Given the description of an element on the screen output the (x, y) to click on. 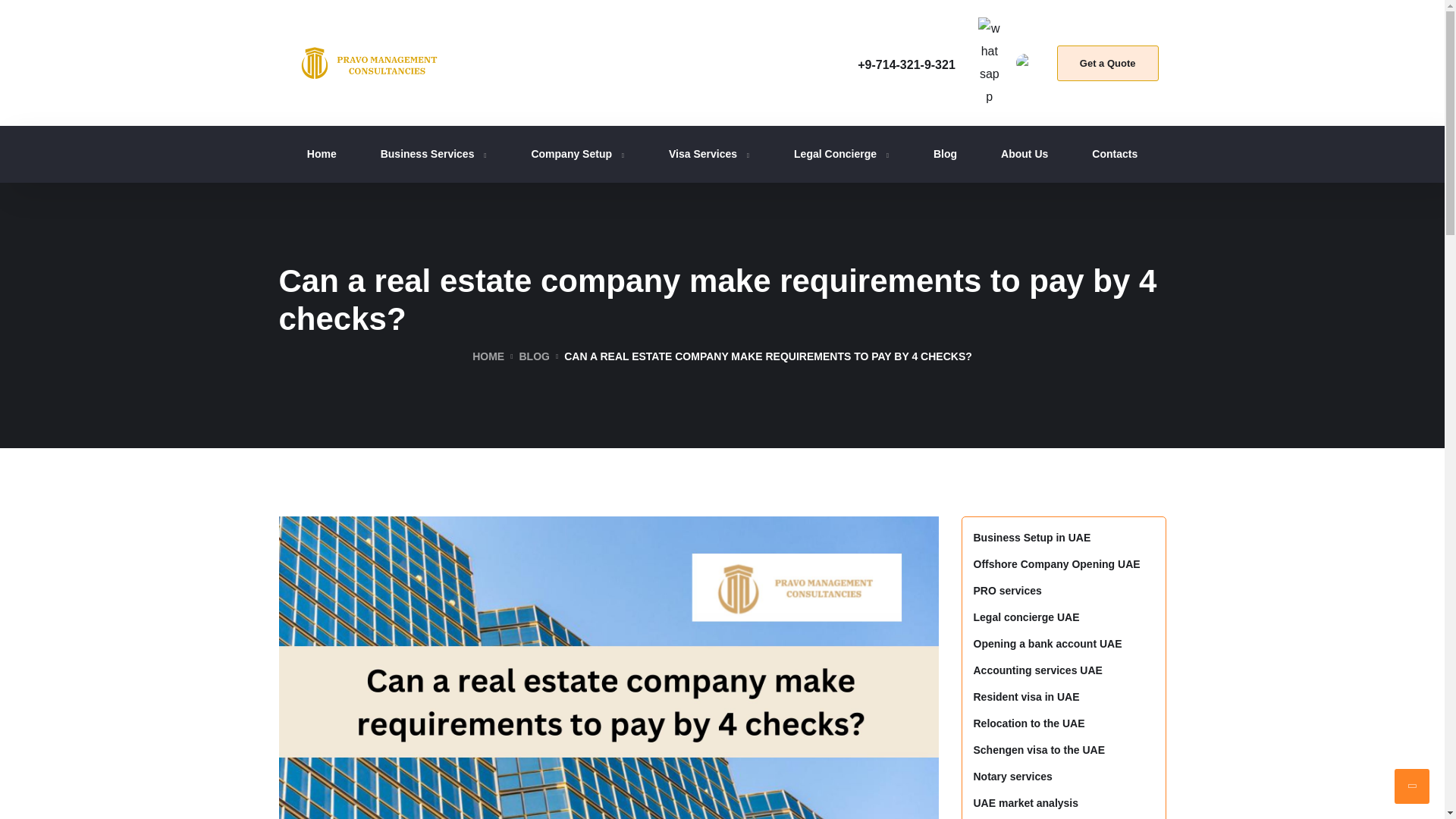
Visa Services (708, 154)
Company Setup (577, 154)
Business Services (433, 154)
About Us (1024, 154)
Contacts (1114, 154)
Get a Quote (1107, 63)
Legal Concierge (841, 154)
